Given the description of an element on the screen output the (x, y) to click on. 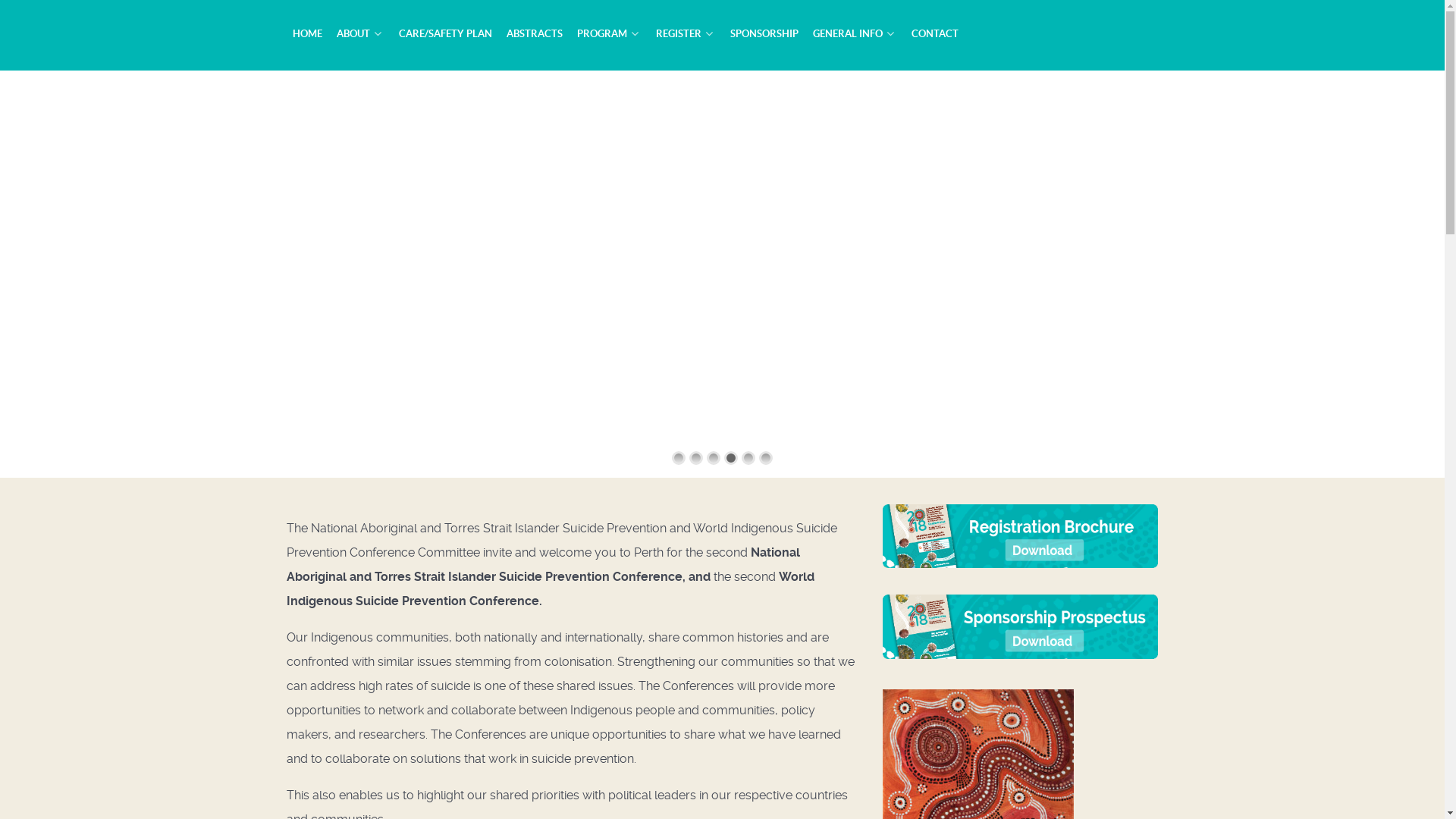
CARE/SAFETY PLAN Element type: text (445, 33)
SPONSORSHIP Element type: text (763, 33)
HOME Element type: text (307, 33)
CONTACT Element type: text (934, 33)
ABSTRACTS Element type: text (534, 33)
